Given the description of an element on the screen output the (x, y) to click on. 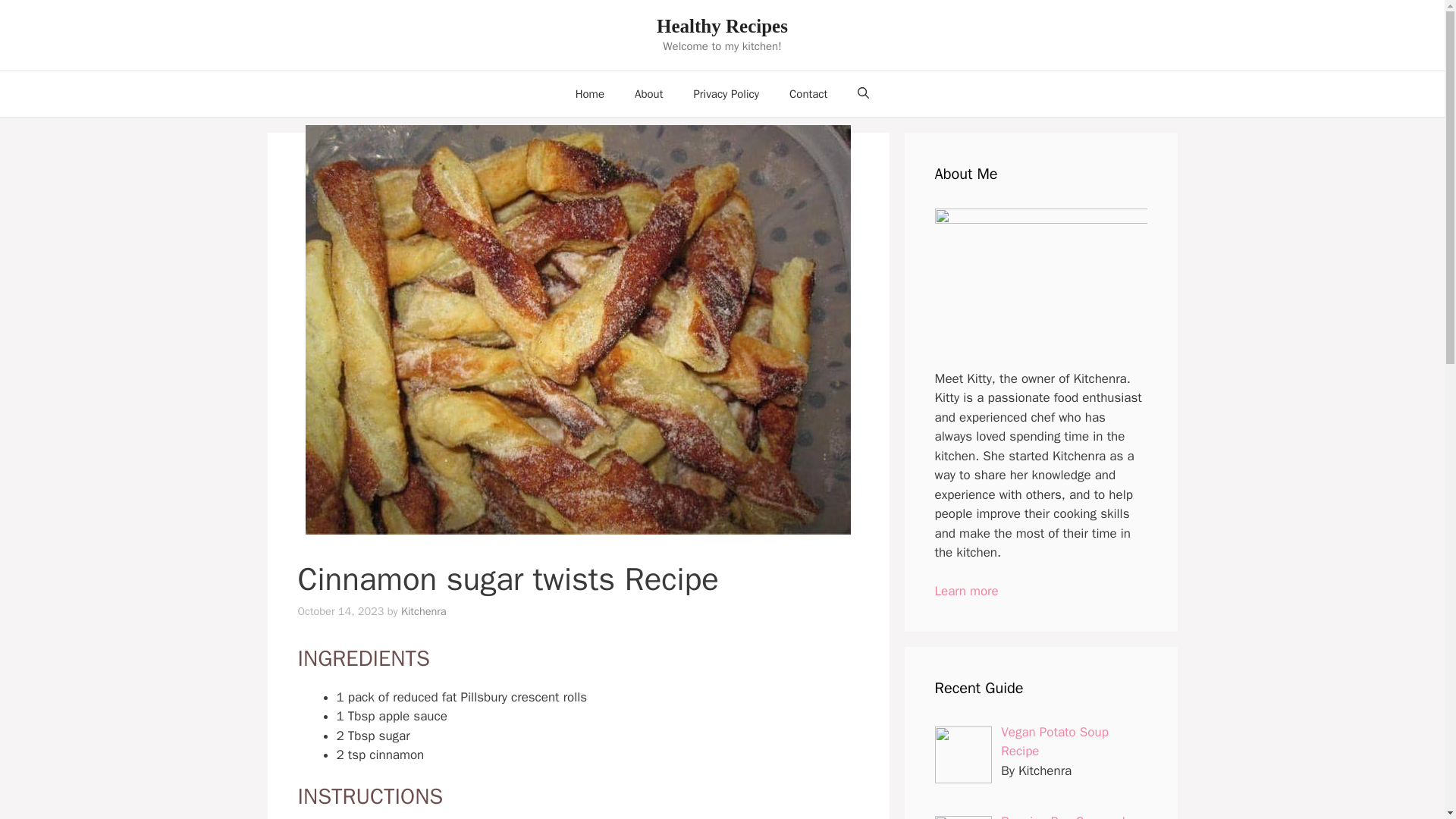
Healthy Recipes (721, 25)
Contact (808, 94)
Reunion Pea Casserole Recipe (1066, 816)
Kitchenra (423, 611)
Vegan Potato Soup Recipe (1054, 741)
Privacy Policy (726, 94)
Learn more (965, 590)
View all posts by Kitchenra (423, 611)
Home (590, 94)
About (649, 94)
